Given the description of an element on the screen output the (x, y) to click on. 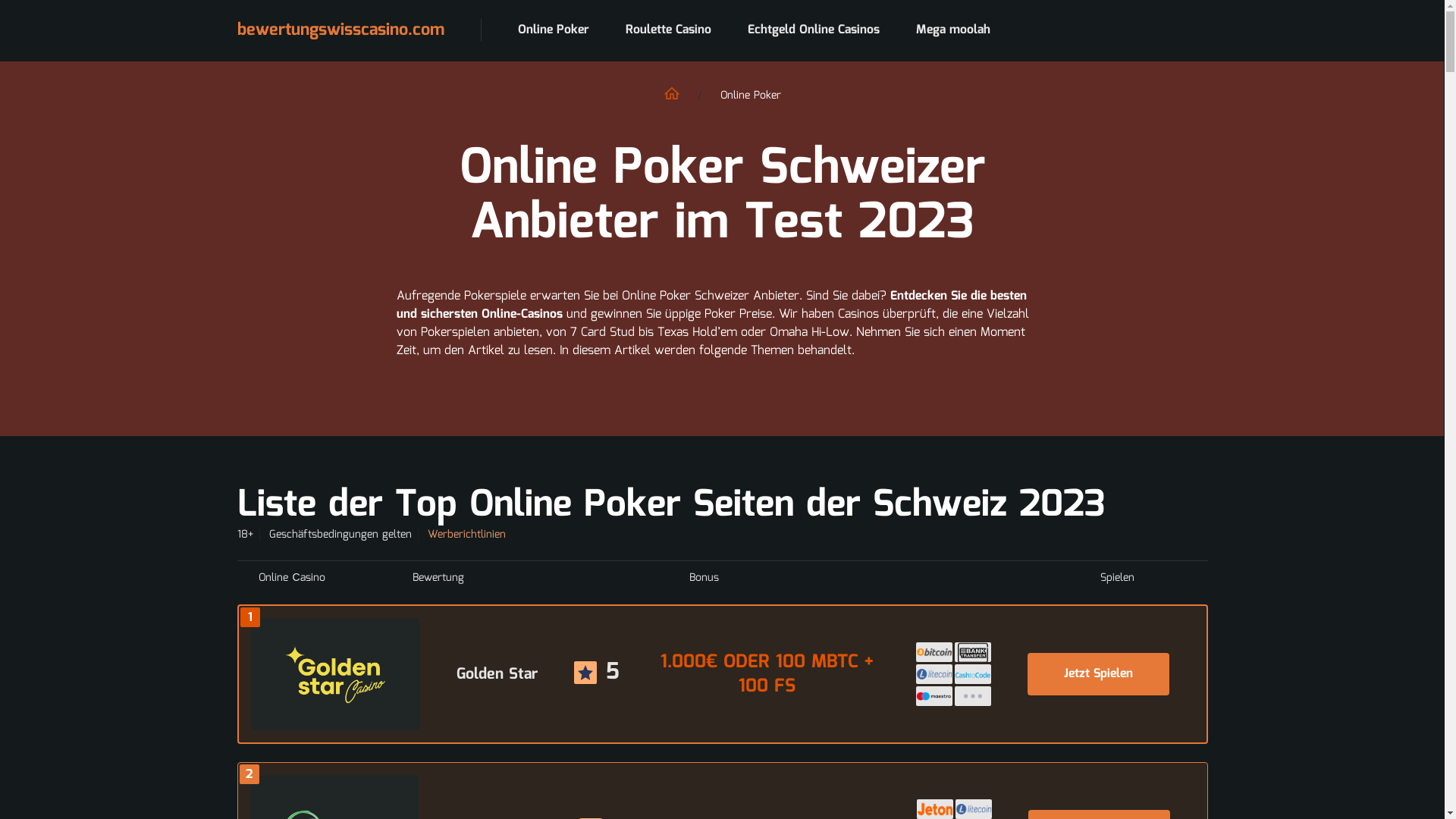
Werberichtlinien Element type: text (466, 534)
Echtgeld Online Casinos Element type: text (813, 30)
Online Poker Element type: text (552, 30)
bewertungswisscasino.com Element type: text (376, 29)
Jetzt Spielen Element type: text (1097, 673)
Mega moolah Element type: text (953, 30)
Roulette Casino Element type: text (667, 30)
